Given the description of an element on the screen output the (x, y) to click on. 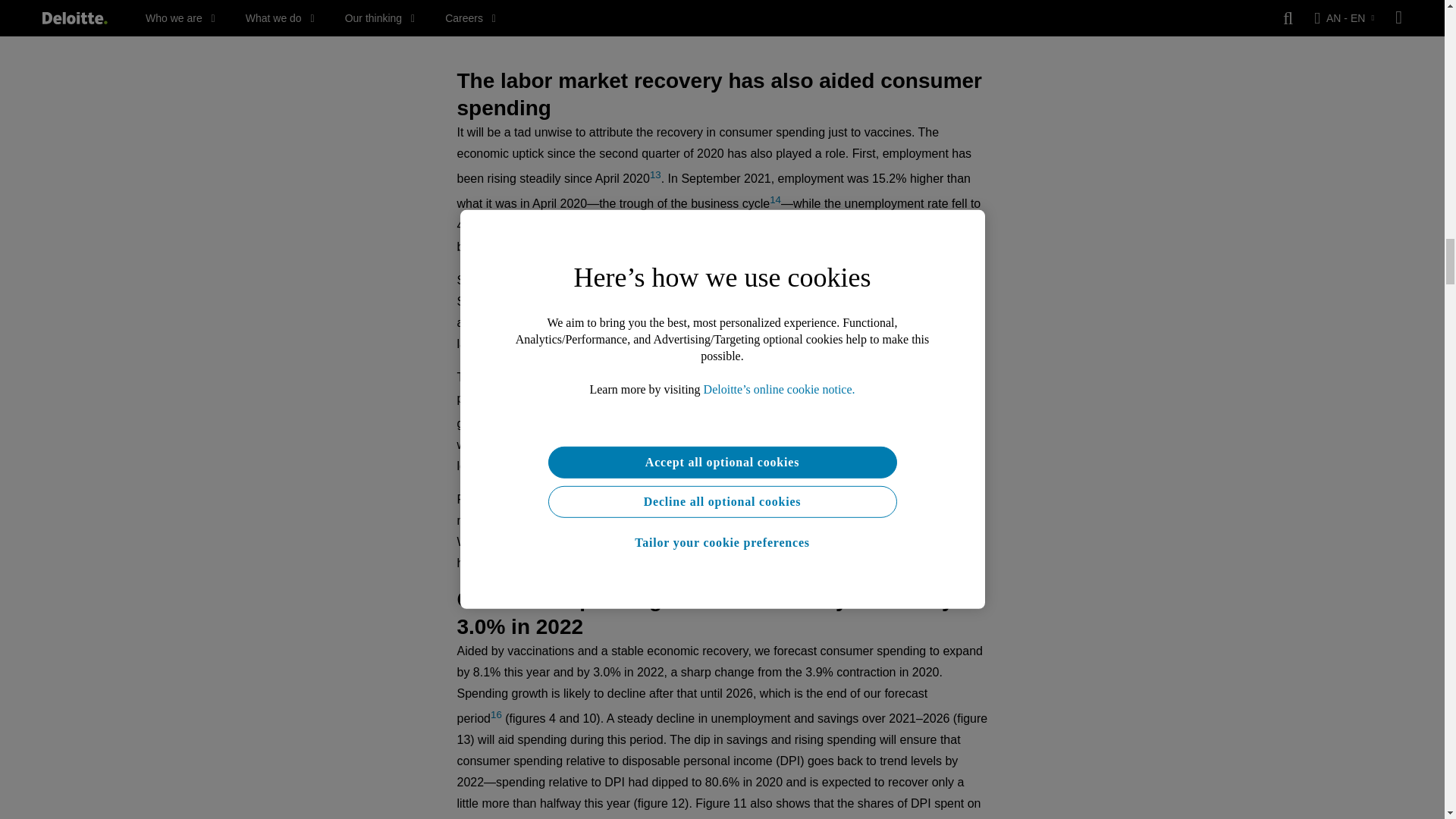
Print (722, 9)
